Given the description of an element on the screen output the (x, y) to click on. 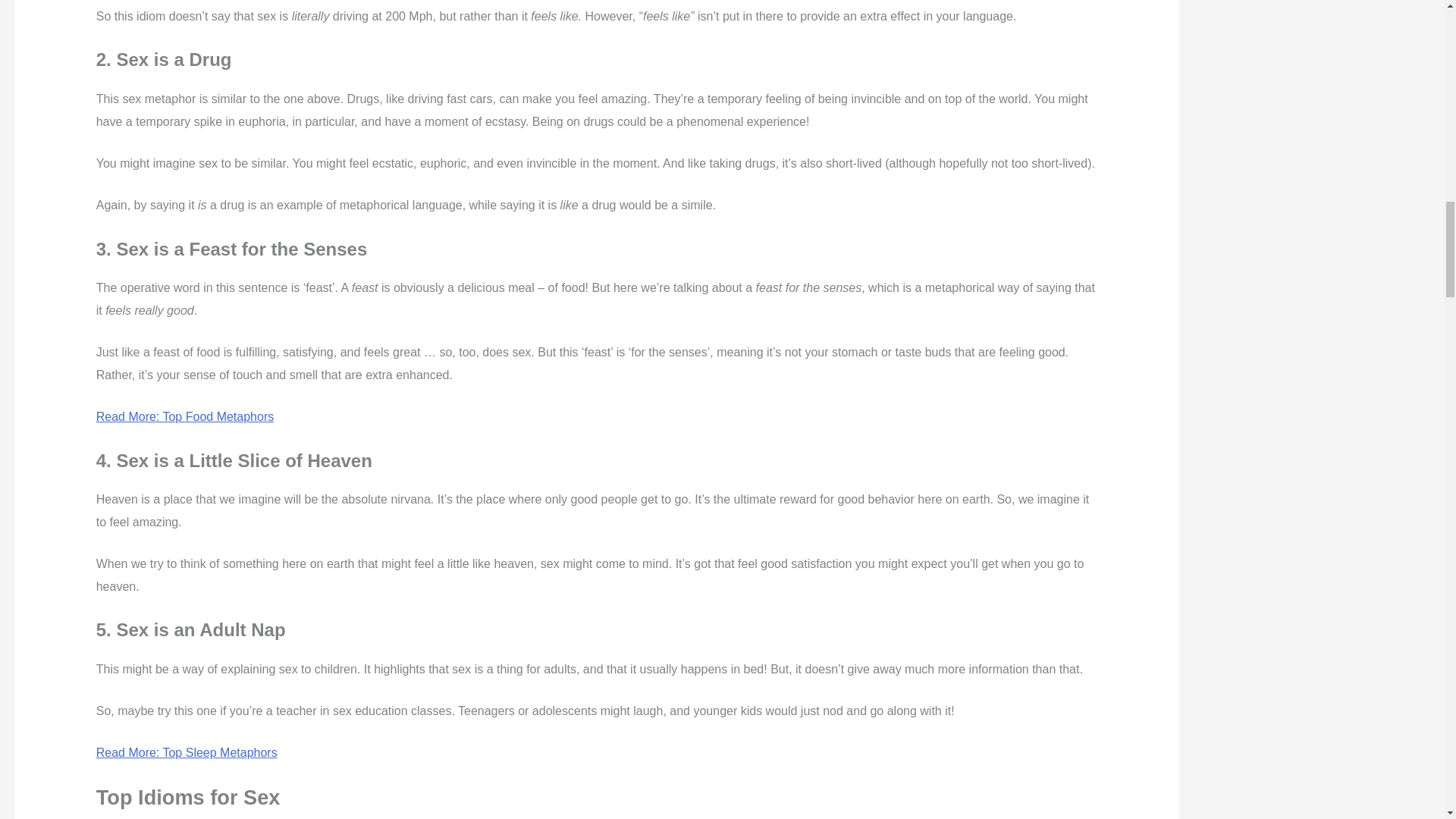
Read More: Top Food Metaphors (185, 416)
Read More: Top Sleep Metaphors (187, 752)
